Given the description of an element on the screen output the (x, y) to click on. 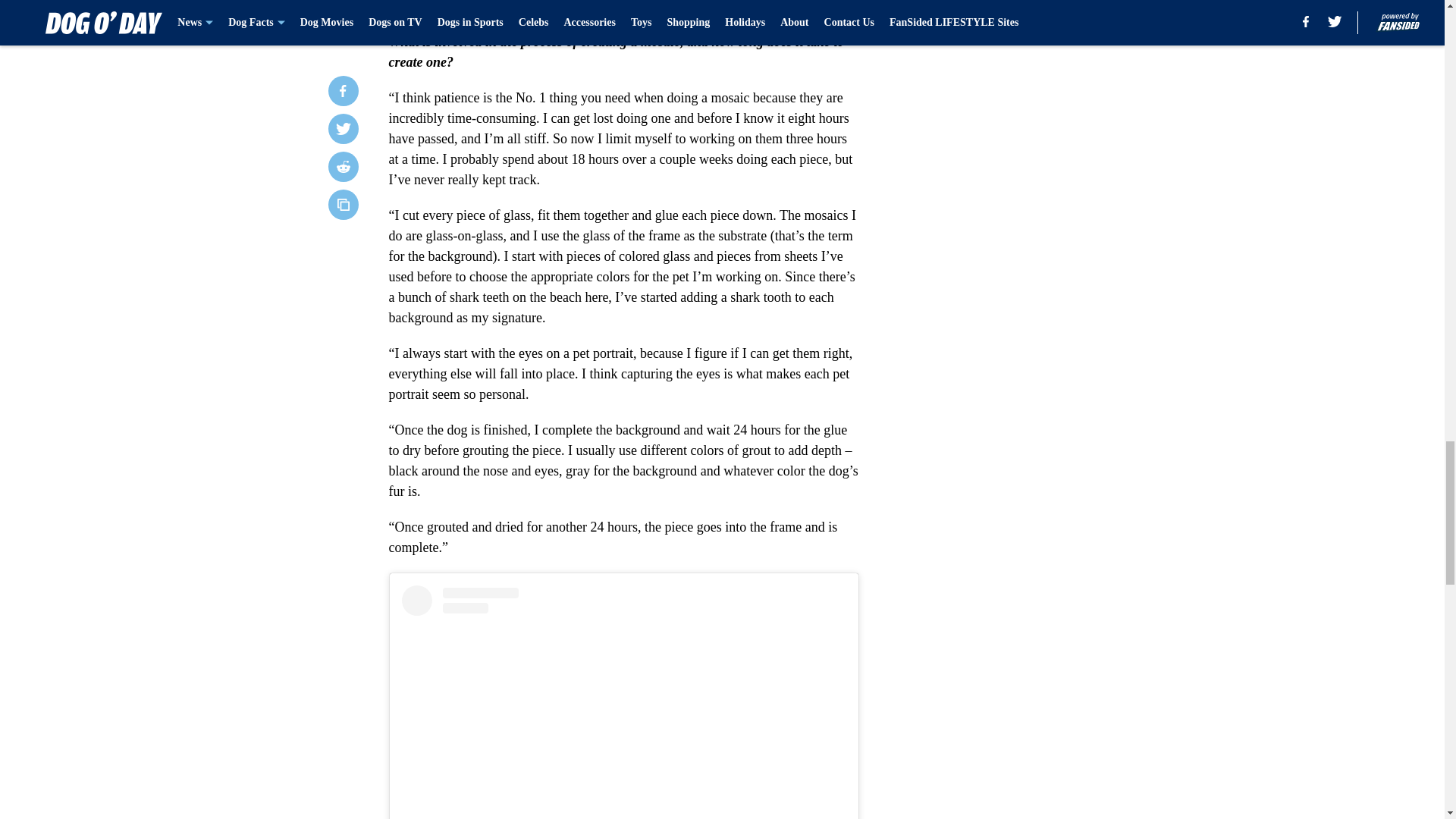
View this post on Instagram (623, 702)
